Given the description of an element on the screen output the (x, y) to click on. 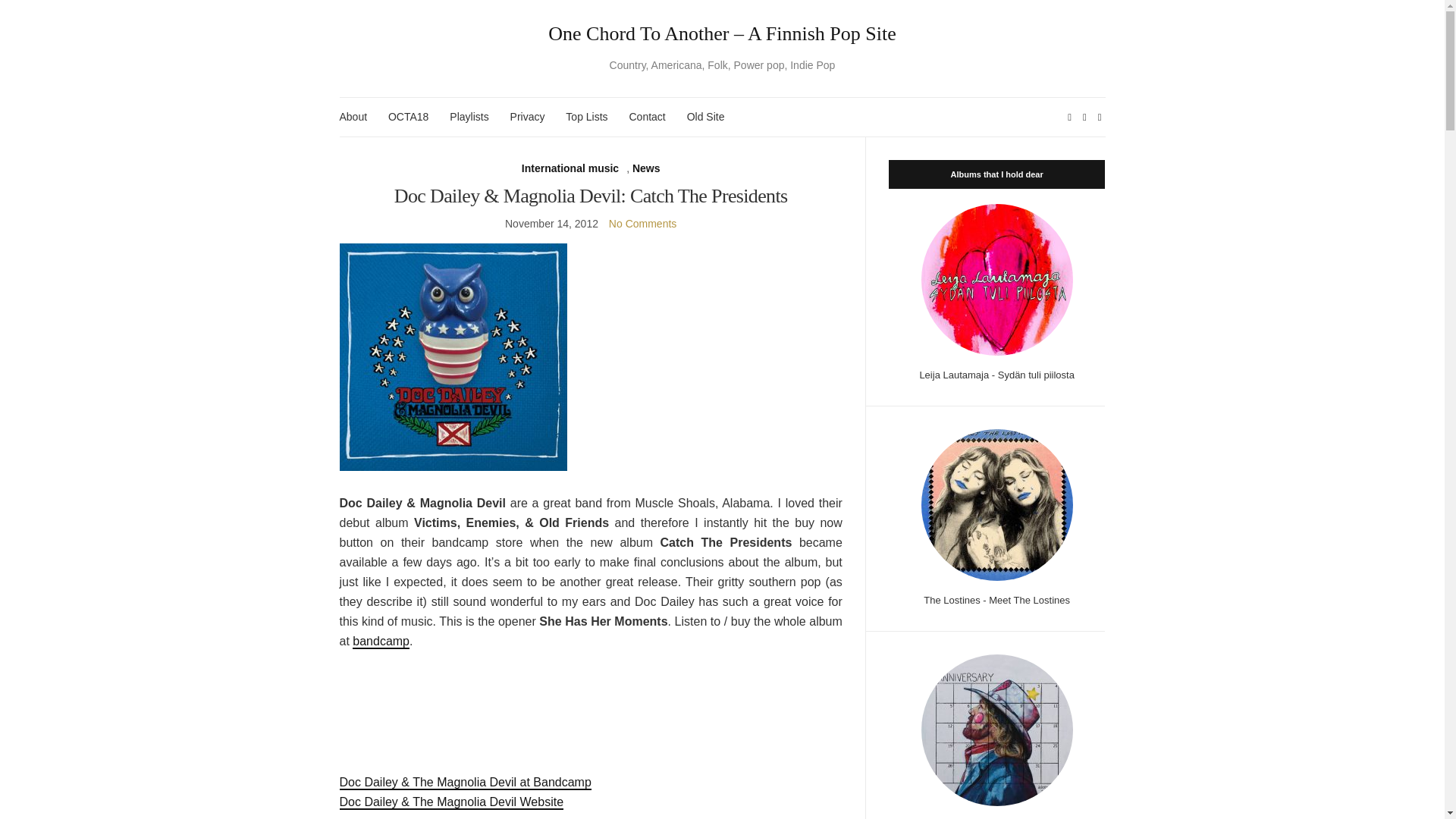
News (646, 168)
Contact (646, 117)
OCTA18 (408, 117)
Privacy (527, 117)
Old Site (706, 117)
No Comments (642, 223)
Top Lists (586, 117)
International music (569, 168)
Playlists (468, 117)
About (353, 117)
docdailey (453, 356)
bandcamp (380, 641)
